Given the description of an element on the screen output the (x, y) to click on. 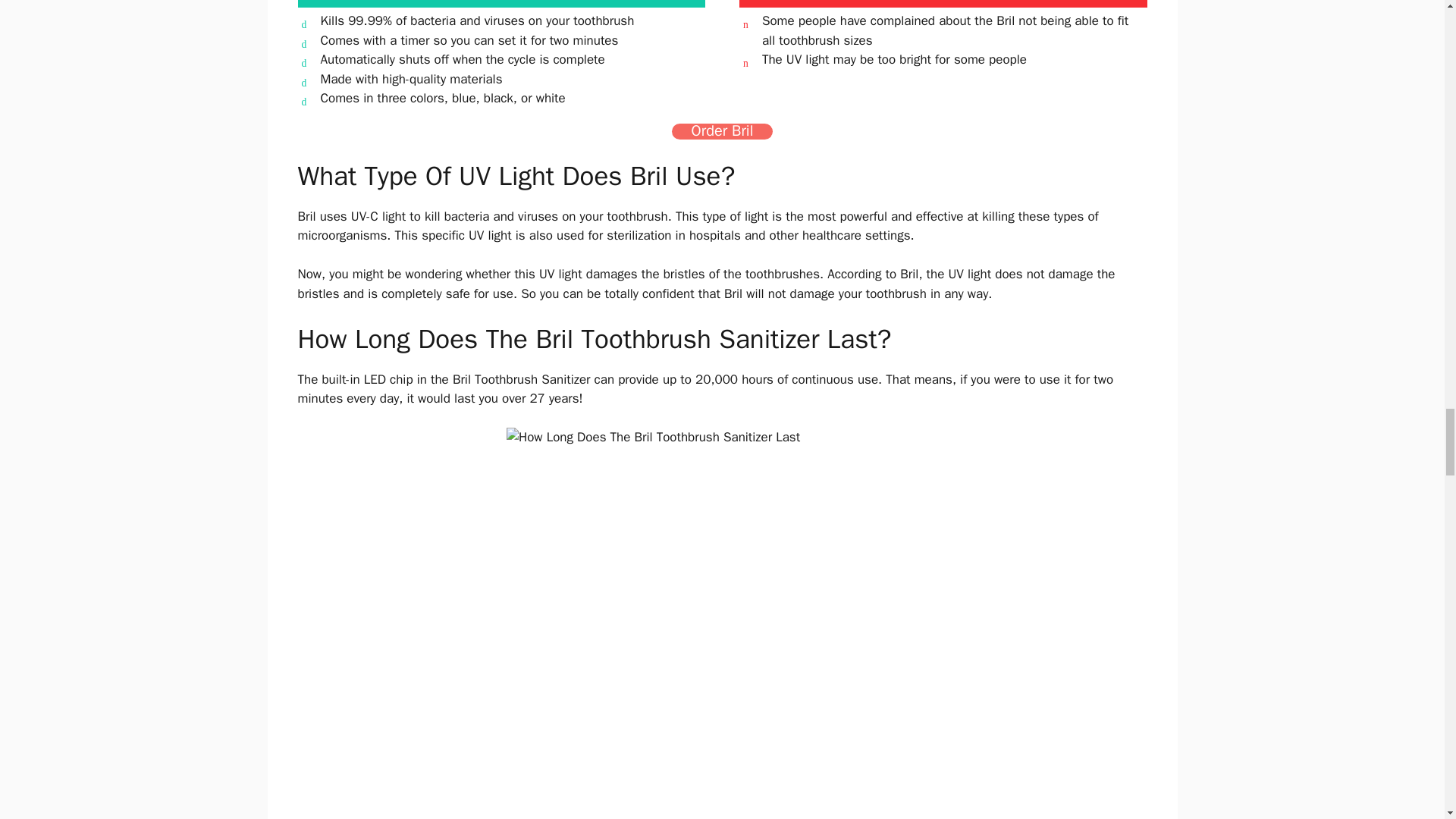
Order Bril (722, 131)
